Given the description of an element on the screen output the (x, y) to click on. 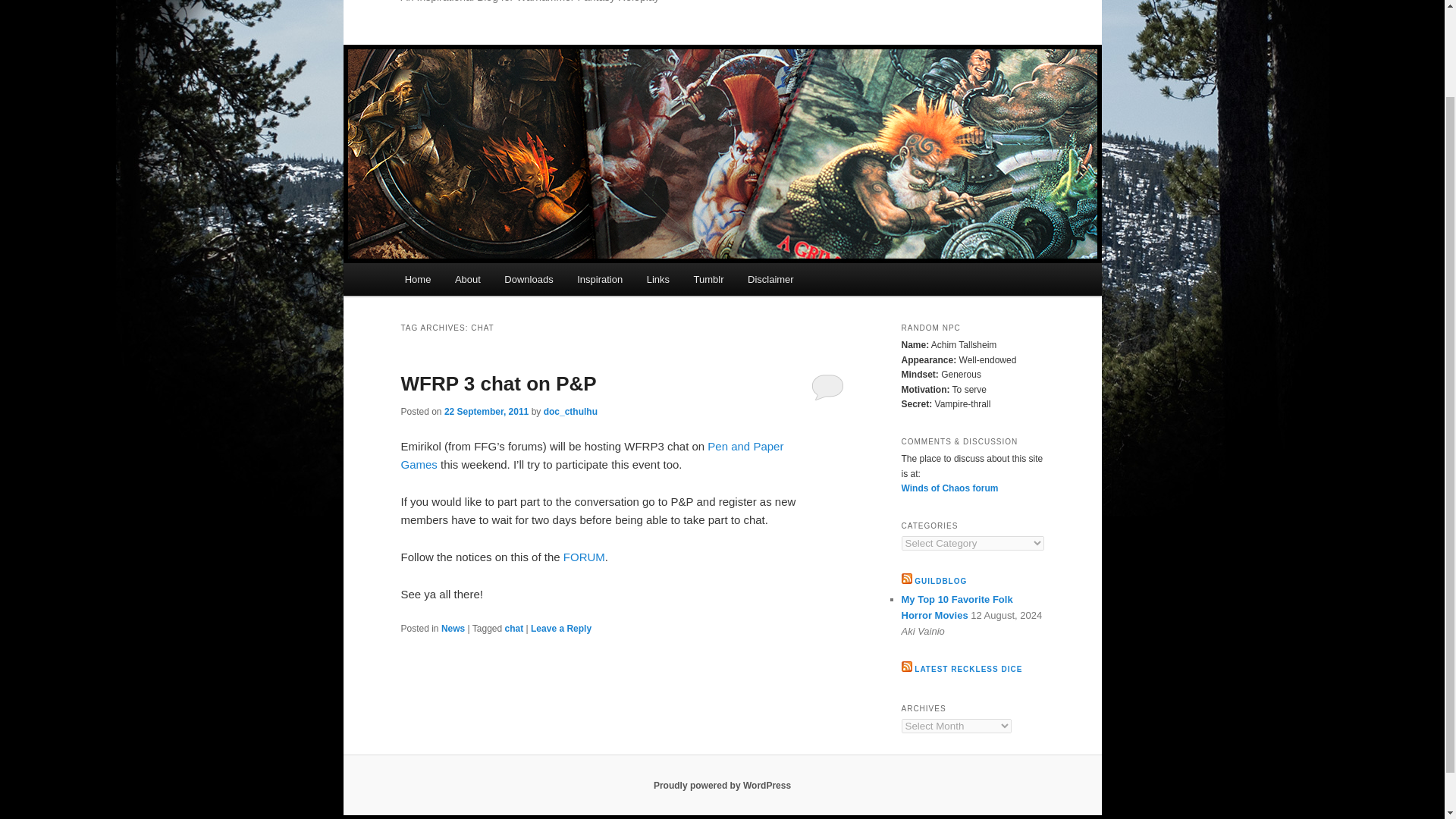
Inspiration (598, 278)
Links (657, 278)
About (467, 278)
Semantic Personal Publishing Platform (721, 785)
Downloads (529, 278)
Disclaimer (770, 278)
22 September, 2011 (486, 411)
Tumblr (708, 278)
Home (417, 278)
